Given the description of an element on the screen output the (x, y) to click on. 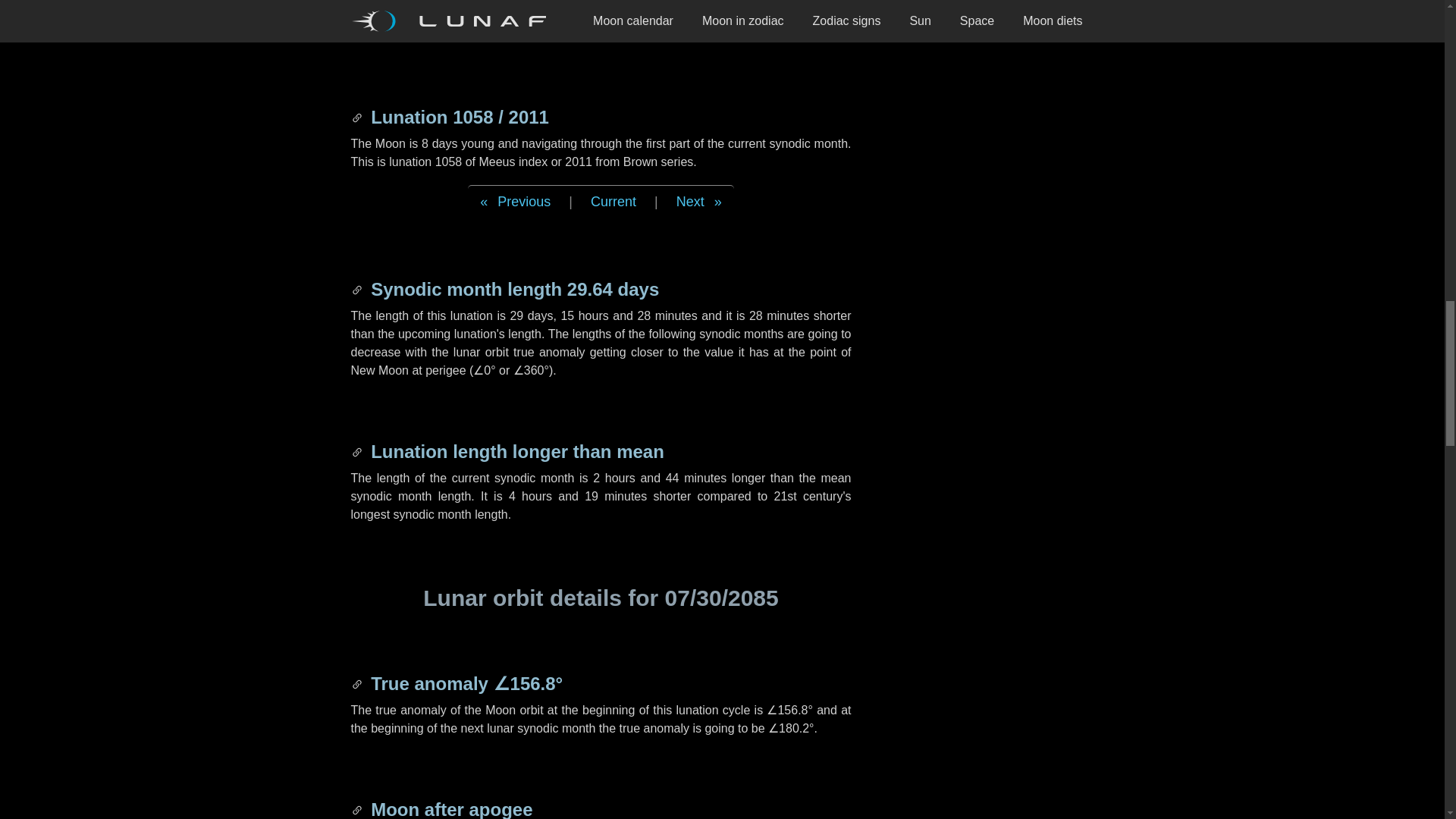
Previous (514, 201)
Current (612, 201)
